Given the description of an element on the screen output the (x, y) to click on. 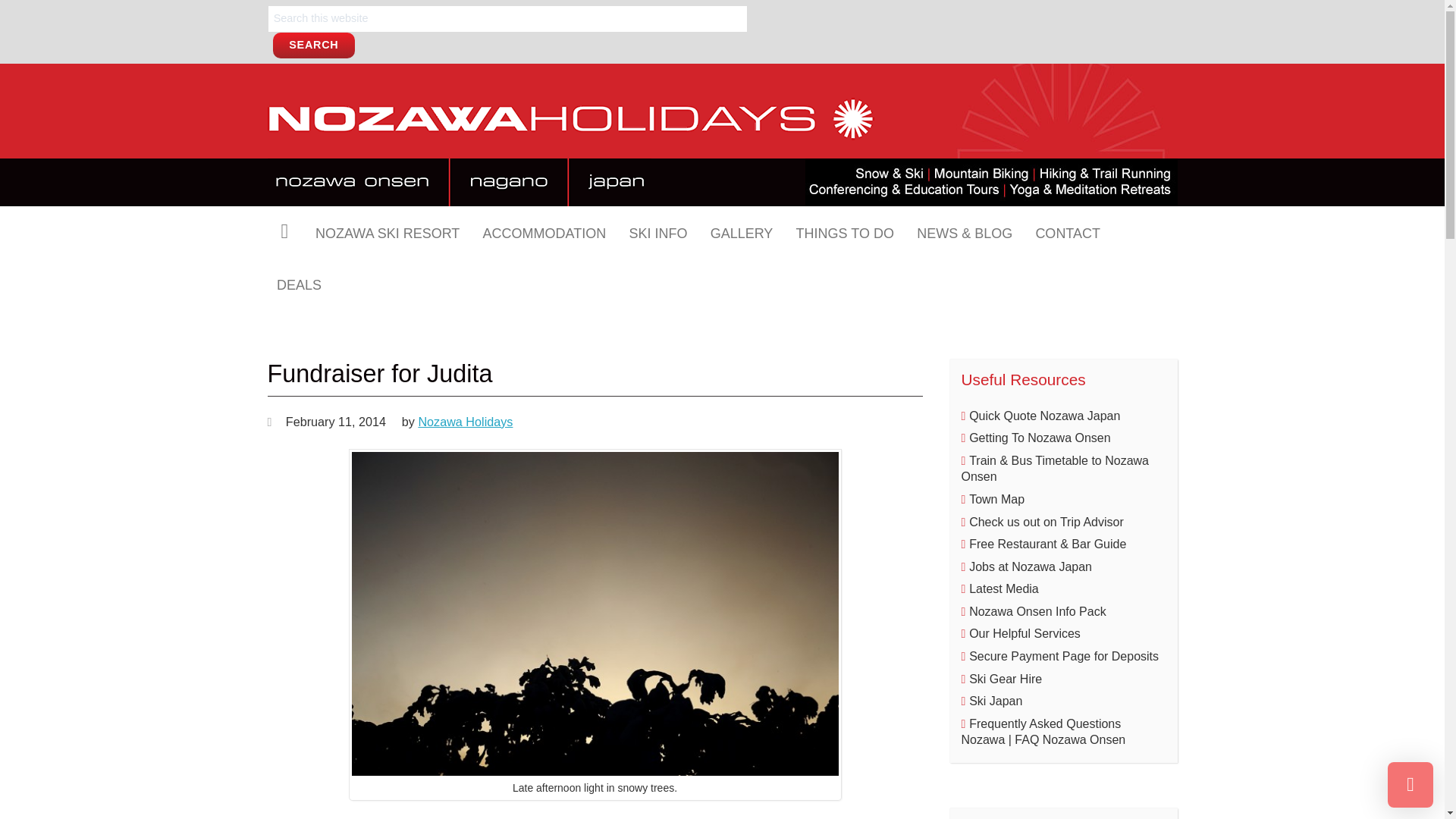
SKI INFO (658, 232)
Search (314, 45)
Search (314, 45)
Nozawa Holidays (569, 135)
GALLERY (741, 232)
NOZAWA SKI RESORT (386, 232)
Search (314, 45)
ACCOMMODATION (544, 232)
